Given the description of an element on the screen output the (x, y) to click on. 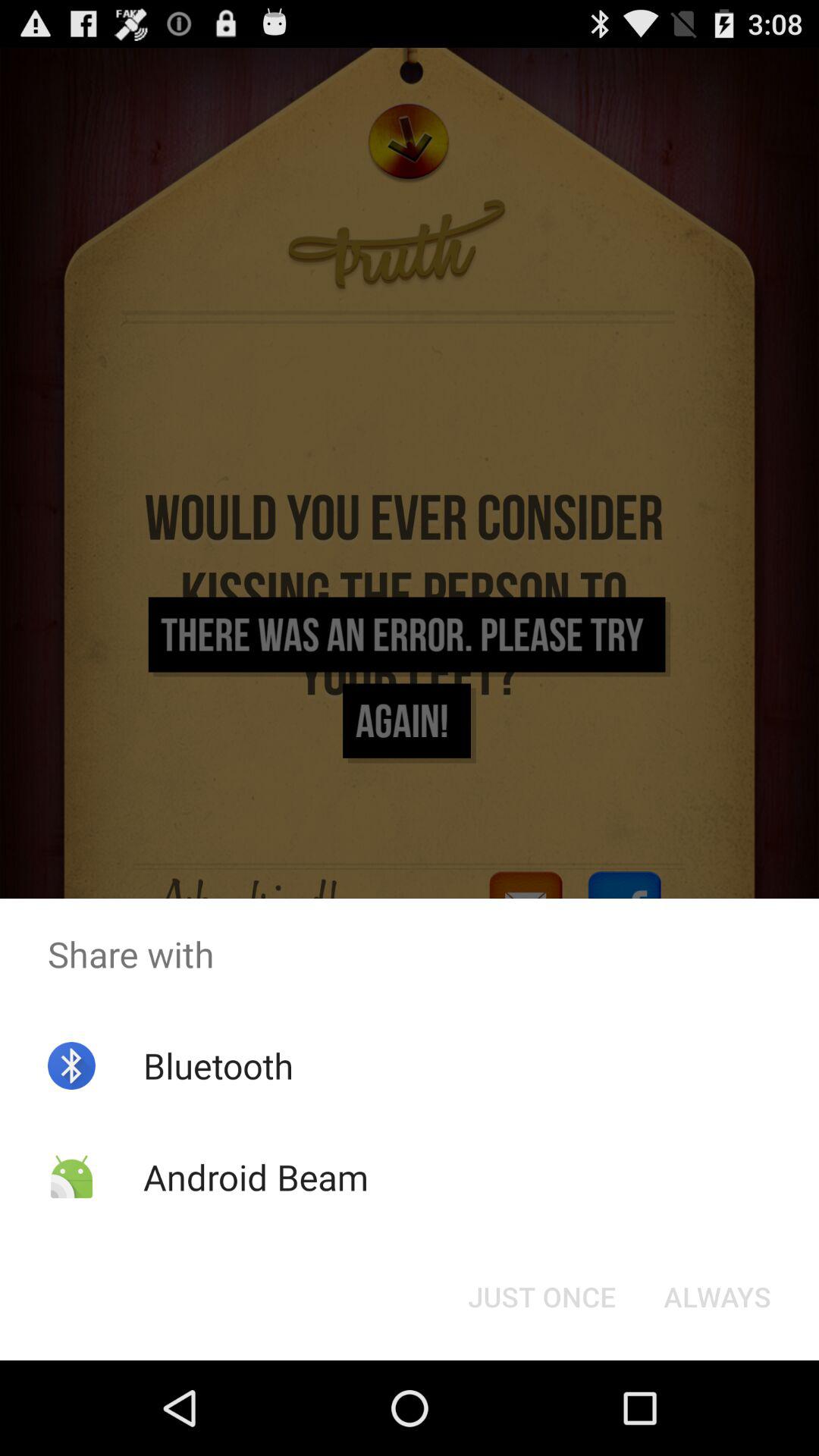
open the button next to the always button (541, 1296)
